Given the description of an element on the screen output the (x, y) to click on. 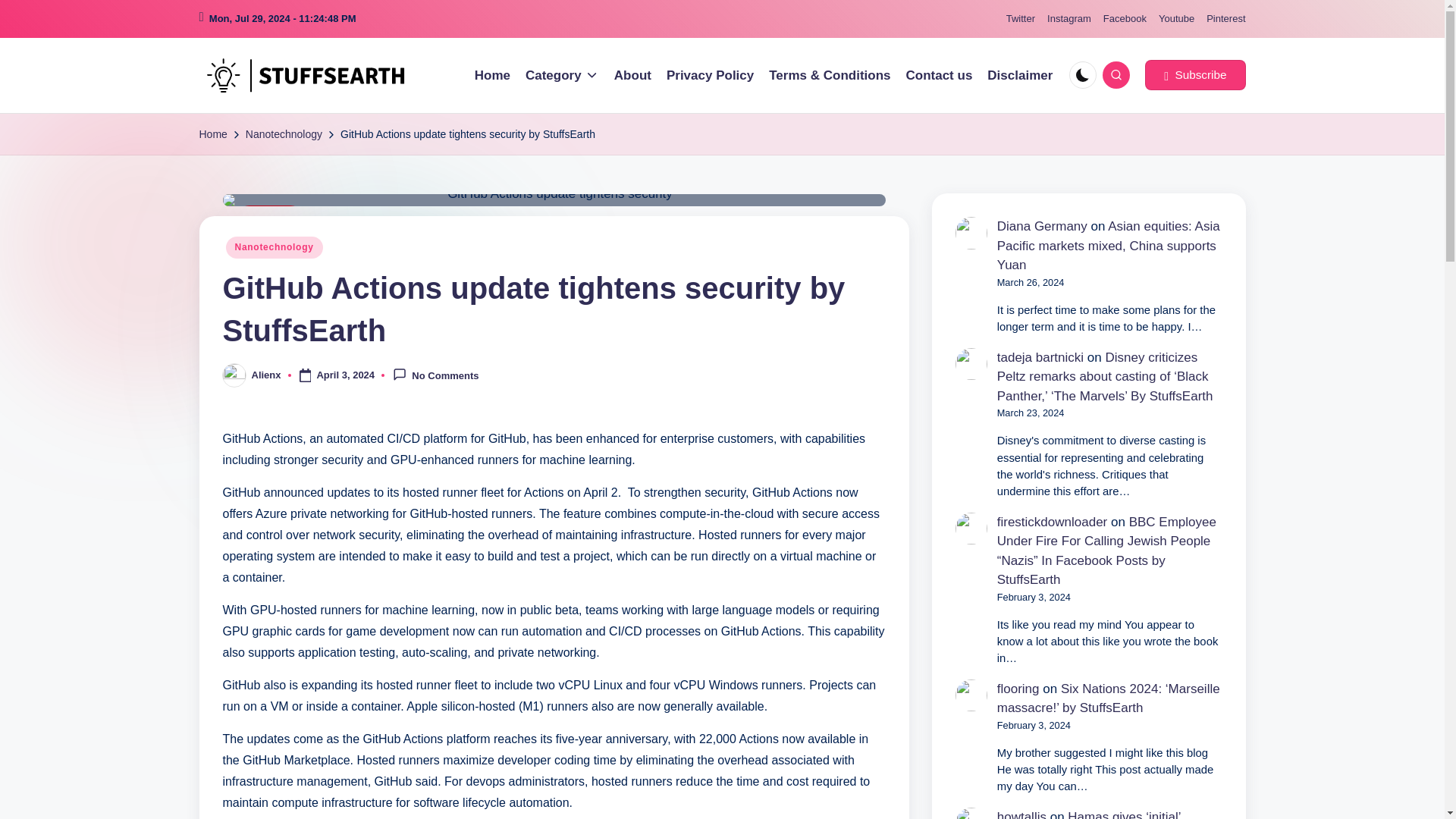
Privacy Policy (710, 75)
Nanotechnology (274, 246)
No Comments (436, 374)
Contact us (938, 75)
Pinterest (1225, 18)
Twitter (1020, 18)
Youtube (1175, 18)
Facebook (1125, 18)
Subscribe (1194, 74)
Category (561, 75)
Disclaimer (1019, 75)
About (632, 75)
Nanotechnology (283, 134)
Alienx (266, 374)
View all posts by Alienx (266, 374)
